Given the description of an element on the screen output the (x, y) to click on. 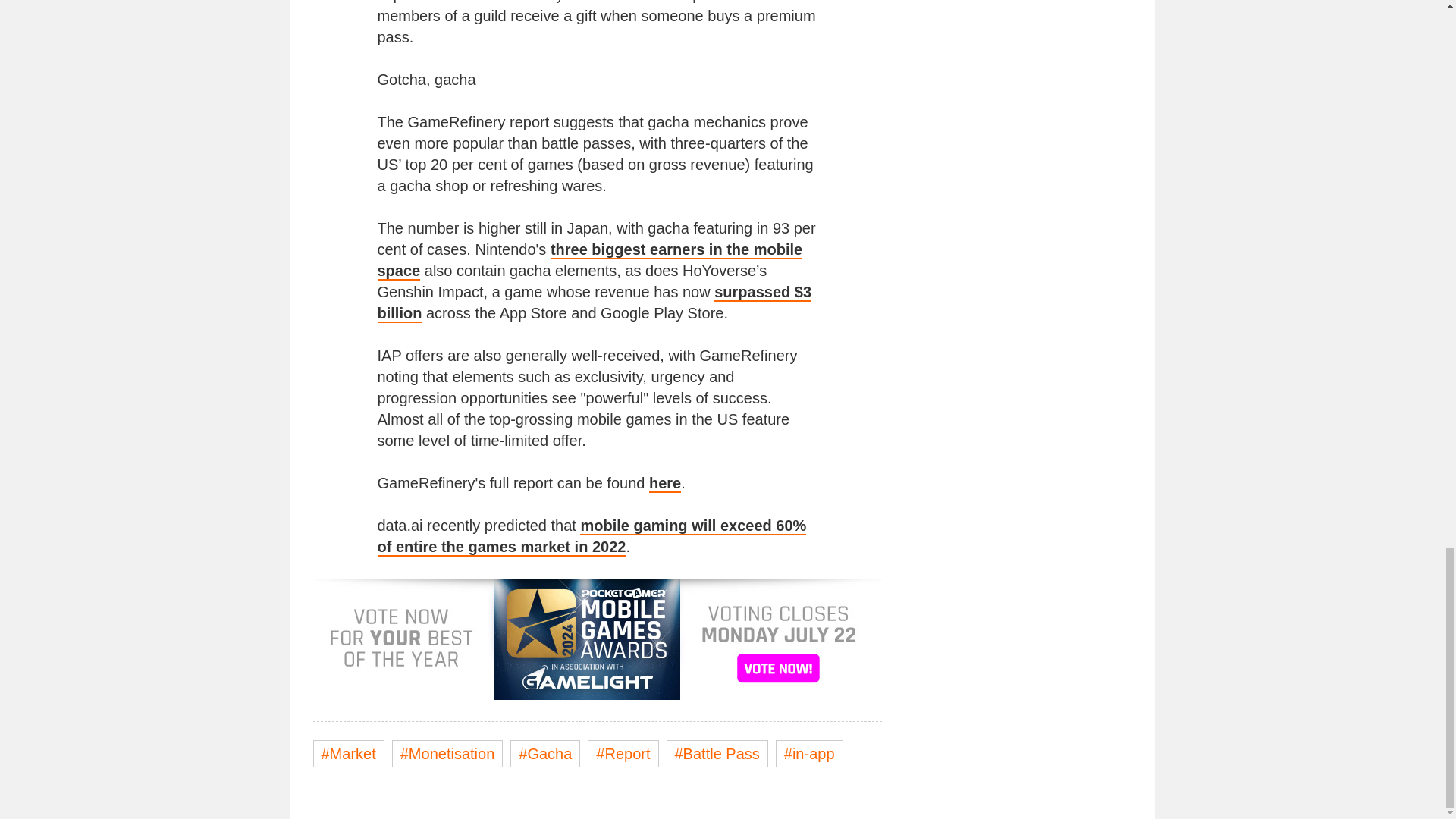
here (665, 484)
three biggest earners in the mobile space (590, 260)
